Given the description of an element on the screen output the (x, y) to click on. 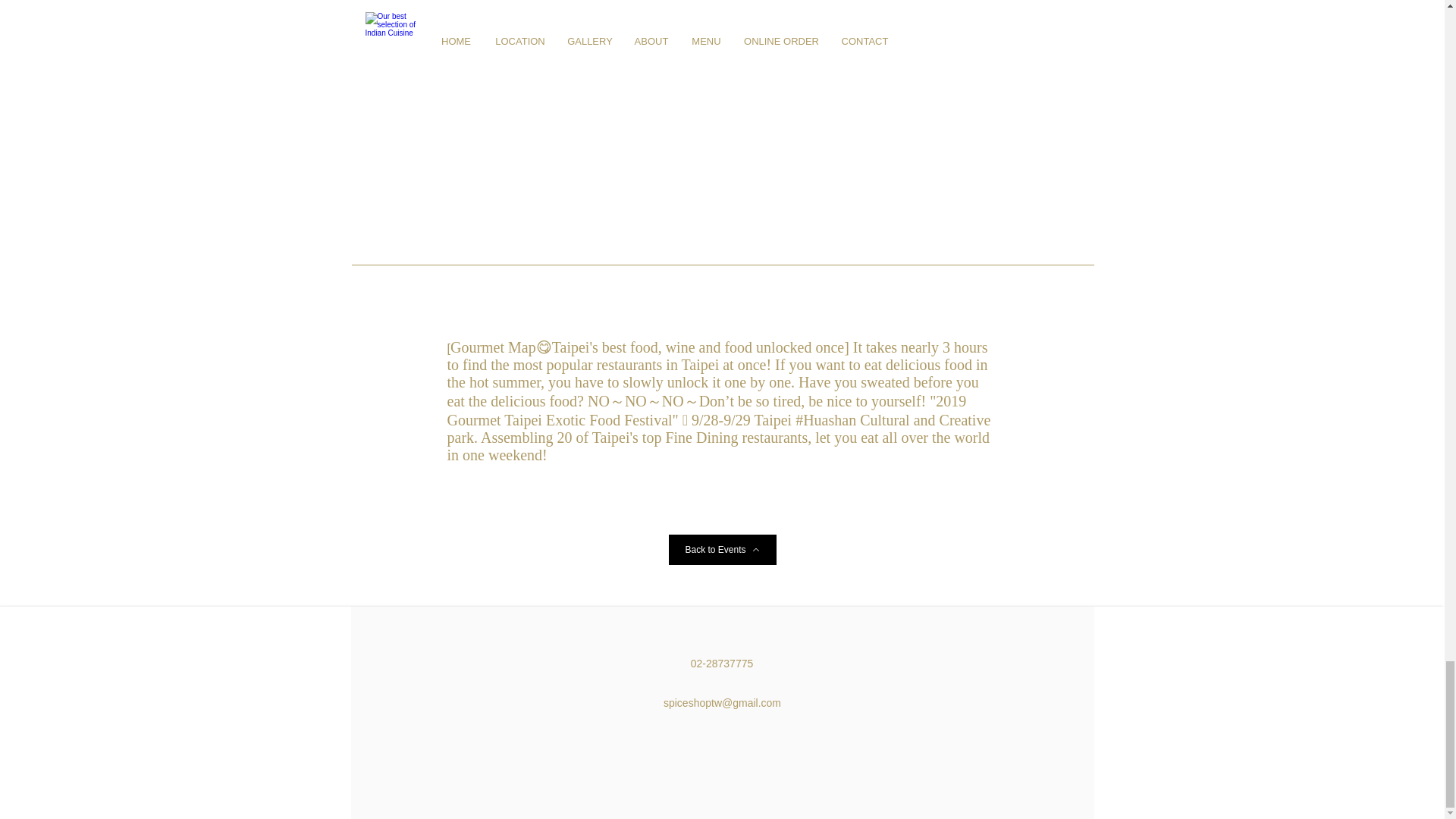
02-28737775 (722, 663)
Back to Events (722, 549)
